Given the description of an element on the screen output the (x, y) to click on. 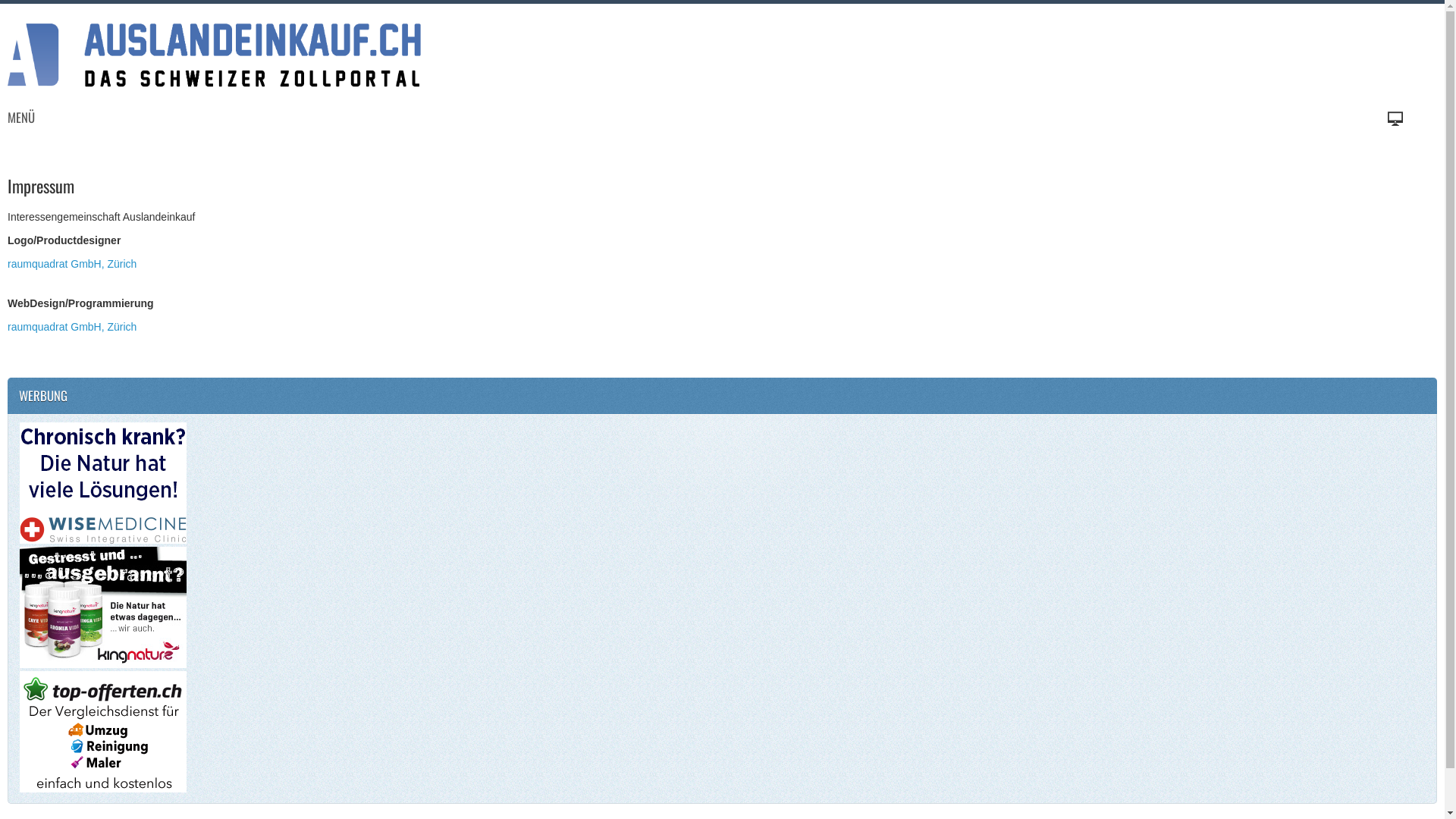
Wisemed Element type: hover (102, 483)
kingnature Element type: hover (102, 608)
top-offerten Element type: hover (102, 732)
